Given the description of an element on the screen output the (x, y) to click on. 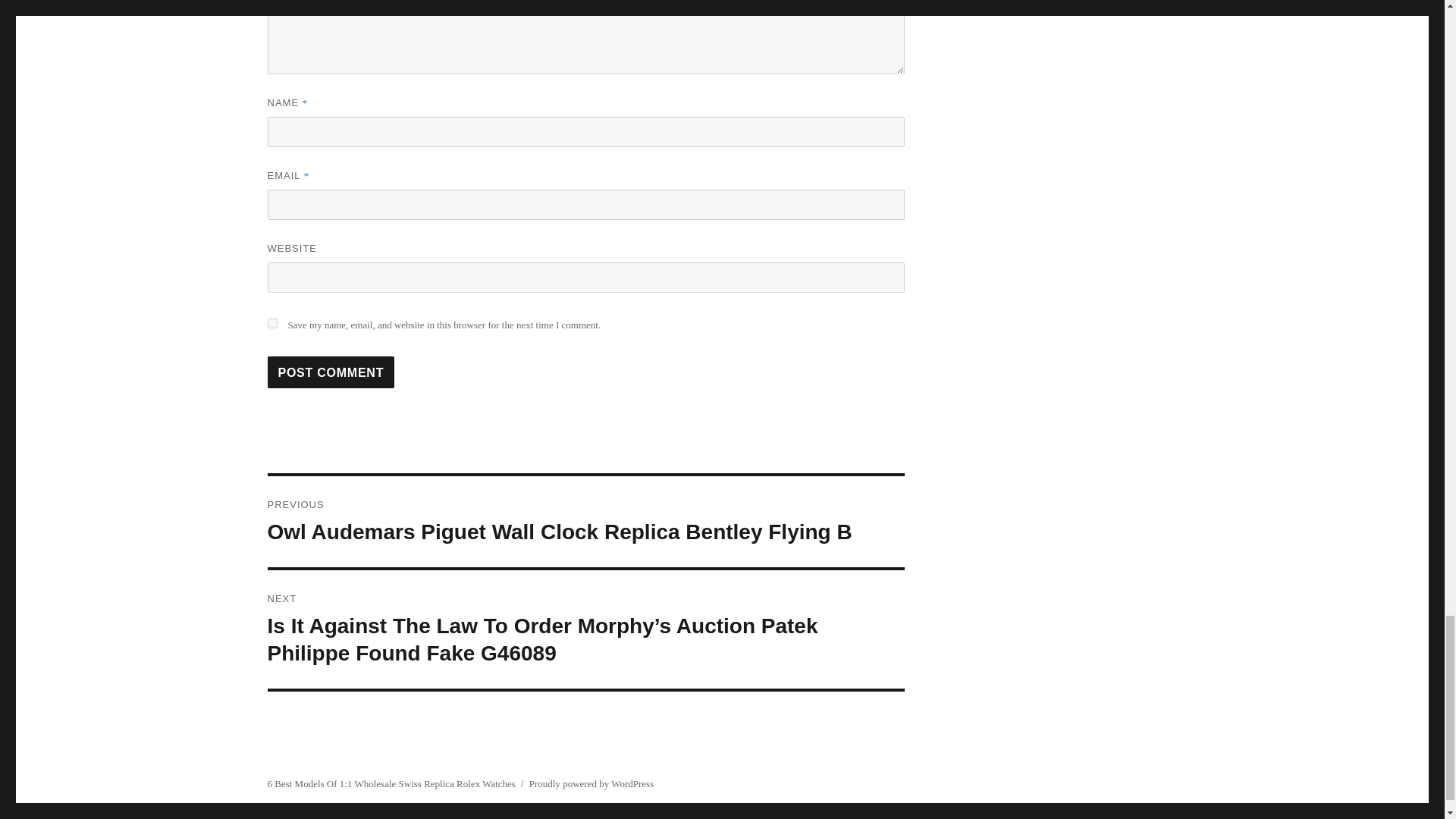
Post Comment (330, 372)
yes (271, 323)
Post Comment (330, 372)
